Given the description of an element on the screen output the (x, y) to click on. 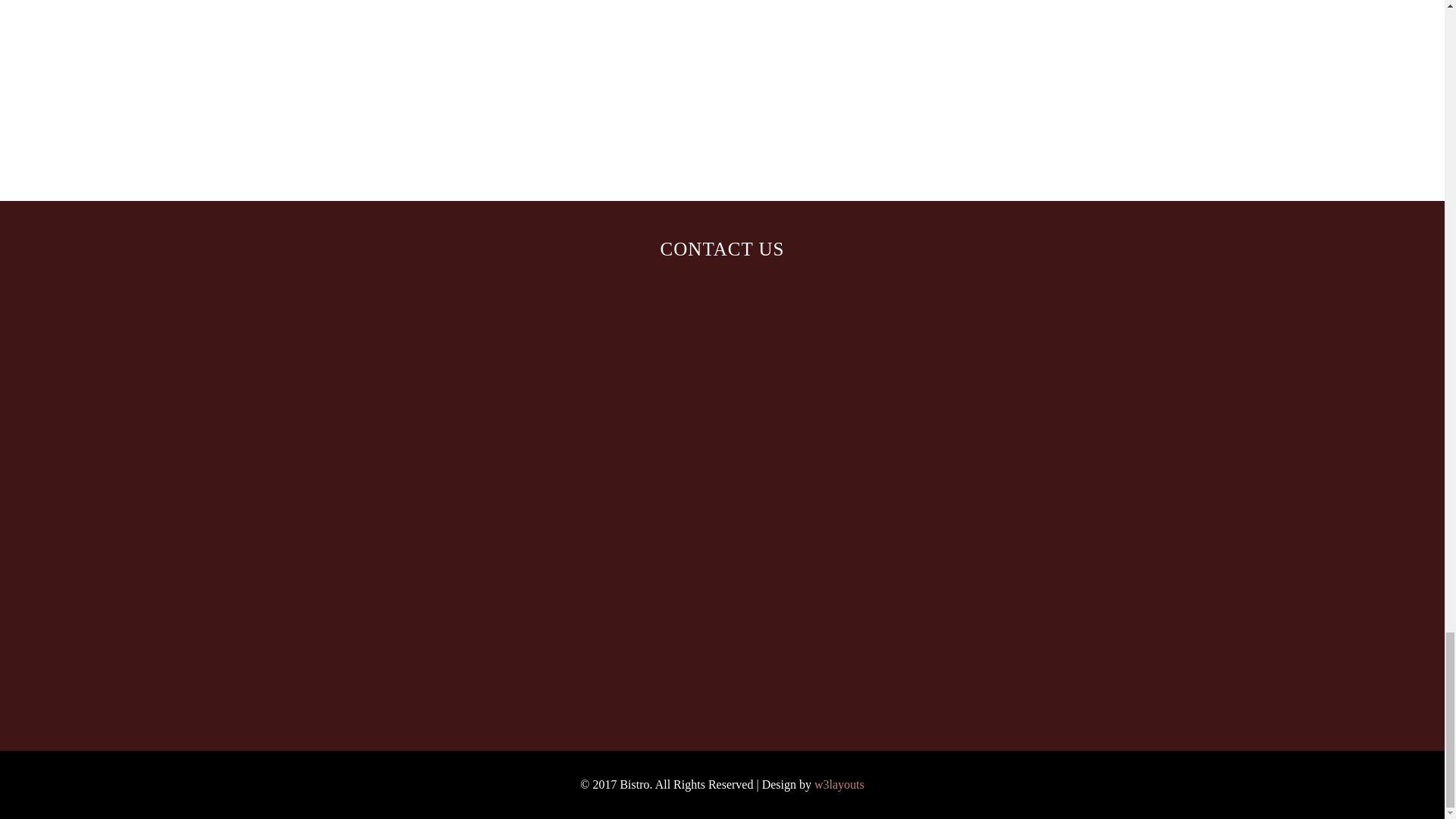
w3layouts (838, 784)
Patriots Crossing (451, 682)
